Given the description of an element on the screen output the (x, y) to click on. 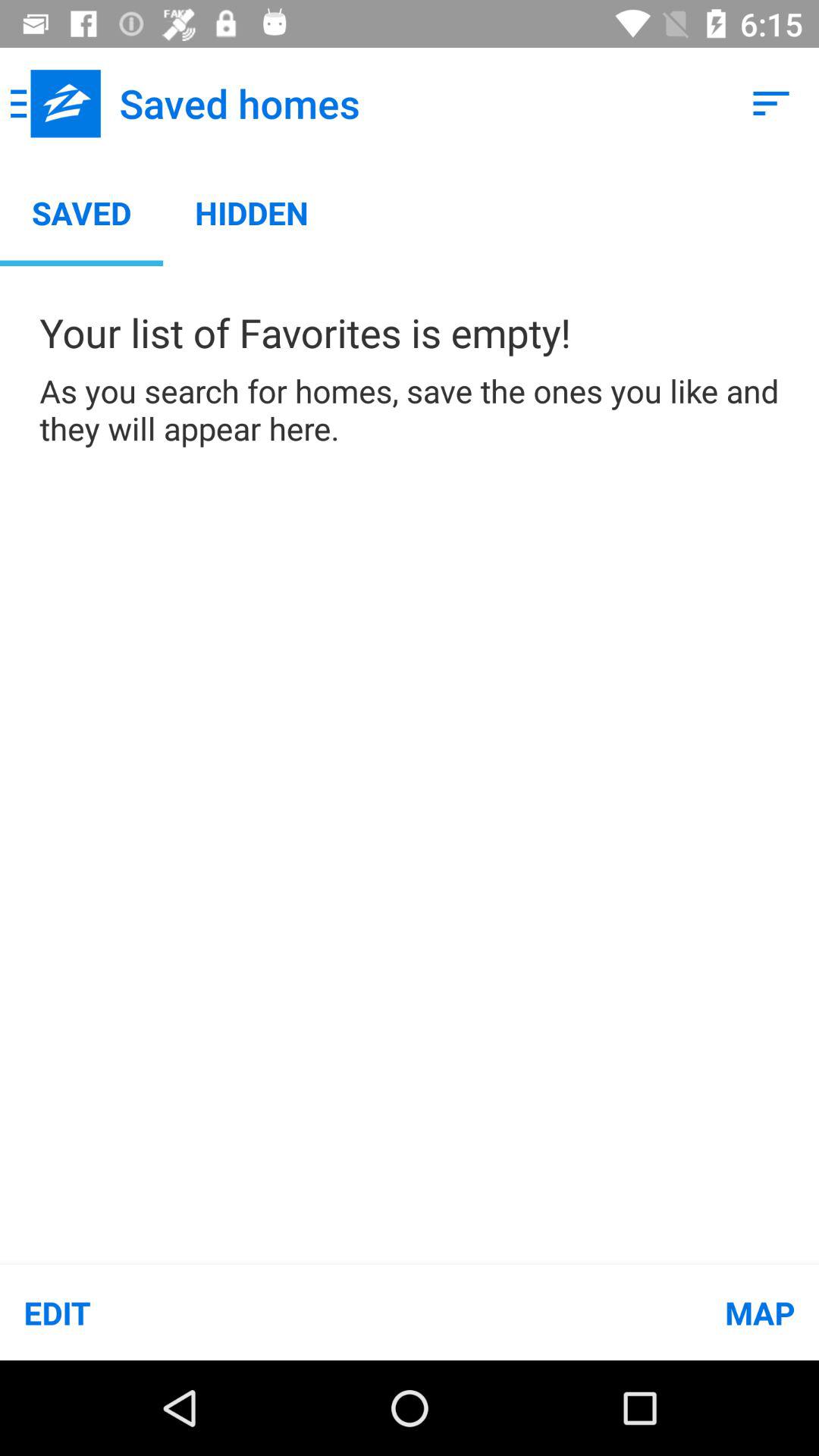
swipe to map icon (614, 1312)
